Given the description of an element on the screen output the (x, y) to click on. 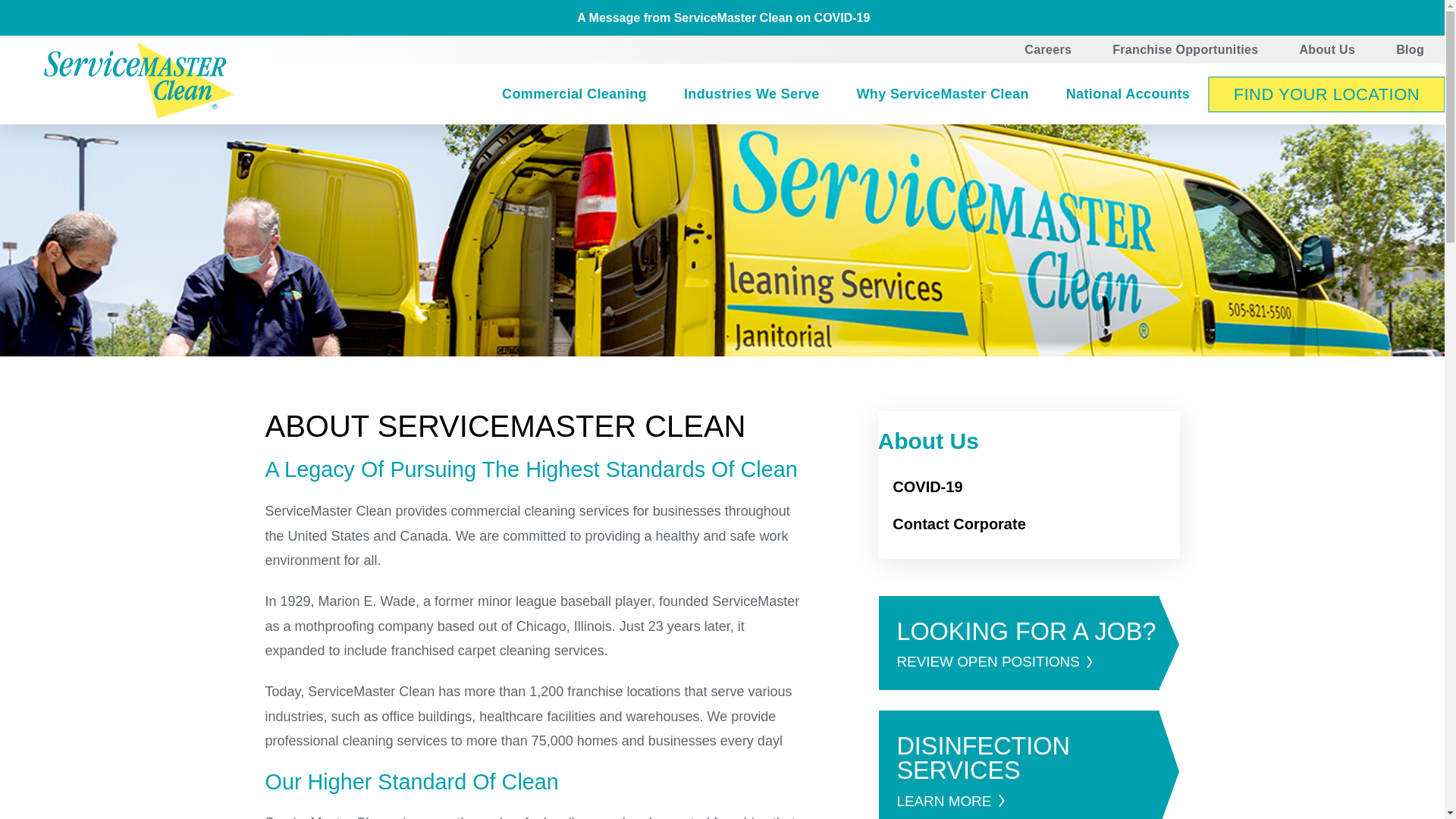
ServiceMaster Clean (138, 79)
Careers (1048, 49)
Blog (1409, 49)
A Message from ServiceMaster Clean on COVID-19 (722, 18)
Franchise Opportunities (1185, 49)
Industries We Serve (751, 94)
About Us (1326, 49)
Commercial Cleaning (574, 94)
Why ServiceMaster Clean (942, 94)
